Given the description of an element on the screen output the (x, y) to click on. 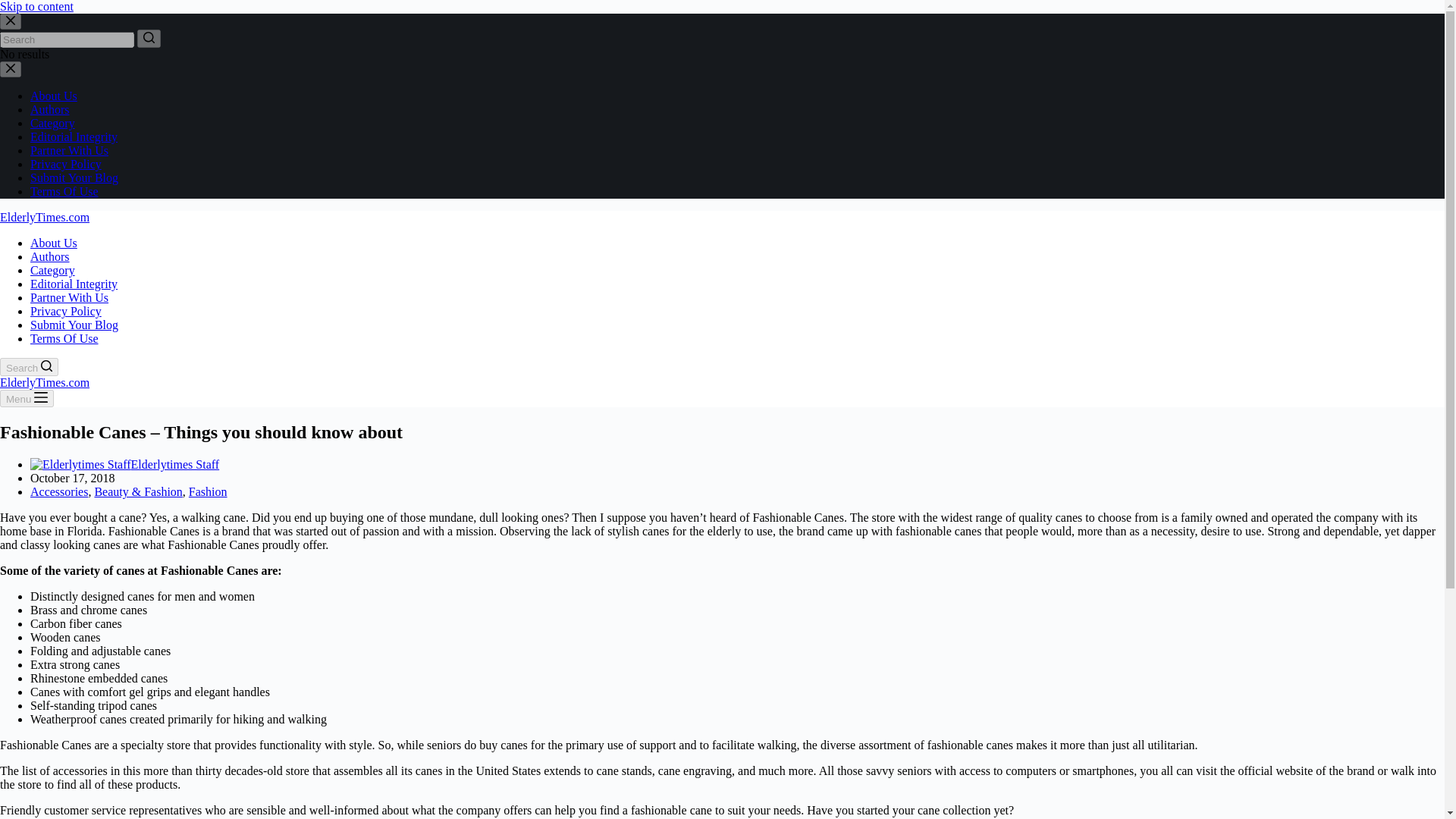
Posts by Elderlytimes Staff (175, 463)
Authors (49, 256)
Editorial Integrity (73, 136)
Elderlytimes Staff (175, 463)
ElderlyTimes.com (44, 216)
Fashion (208, 491)
Editorial Integrity (73, 283)
ElderlyTimes.com (44, 382)
Submit Your Blog (73, 324)
Menu (26, 398)
About Us (53, 242)
Partner With Us (68, 297)
Partner With Us (68, 150)
Accessories (58, 491)
Skip to content (37, 6)
